Given the description of an element on the screen output the (x, y) to click on. 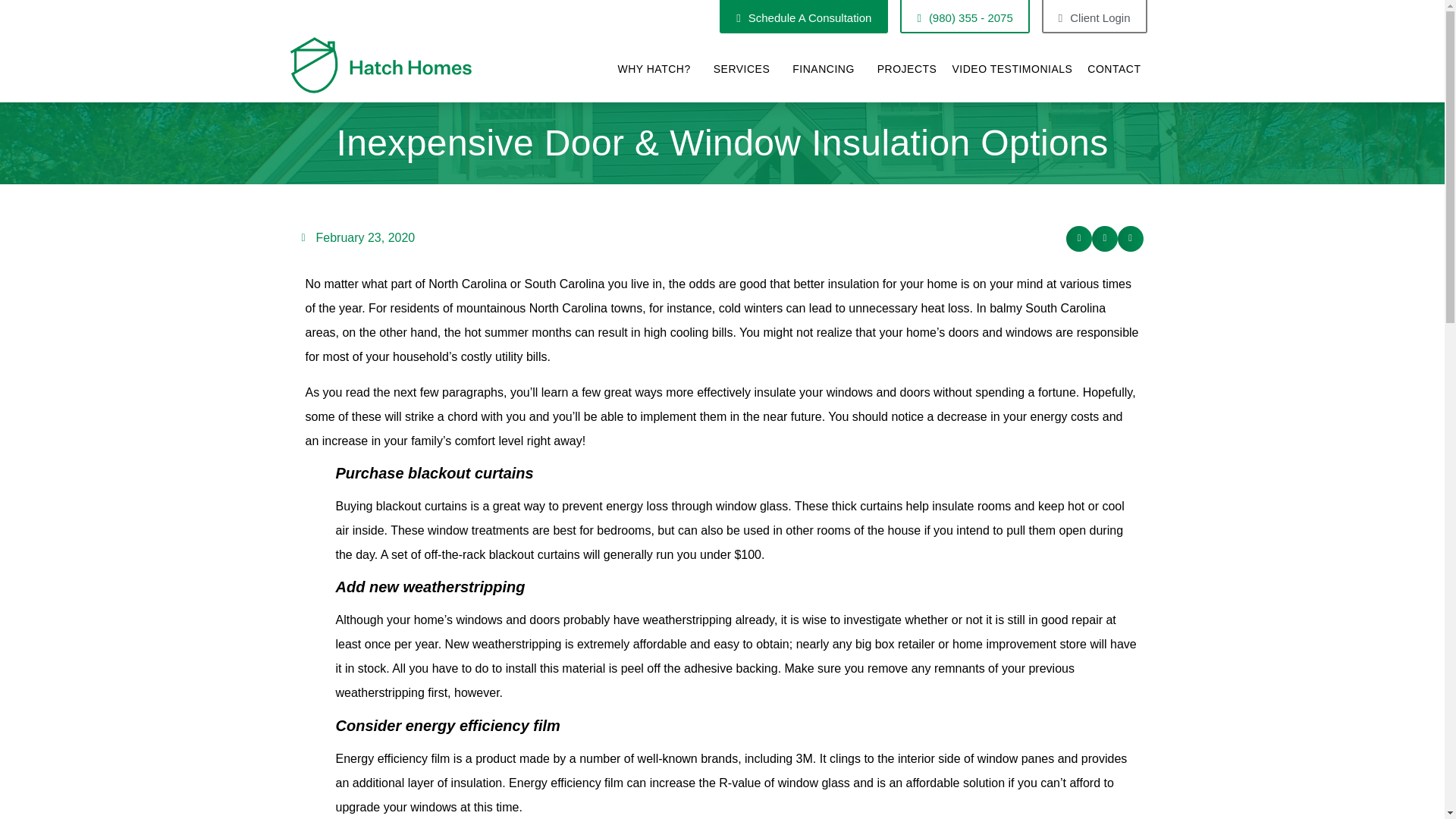
SERVICES (746, 68)
Schedule A Consultation (803, 16)
WHY HATCH? (657, 68)
Client Login (1094, 16)
